Given the description of an element on the screen output the (x, y) to click on. 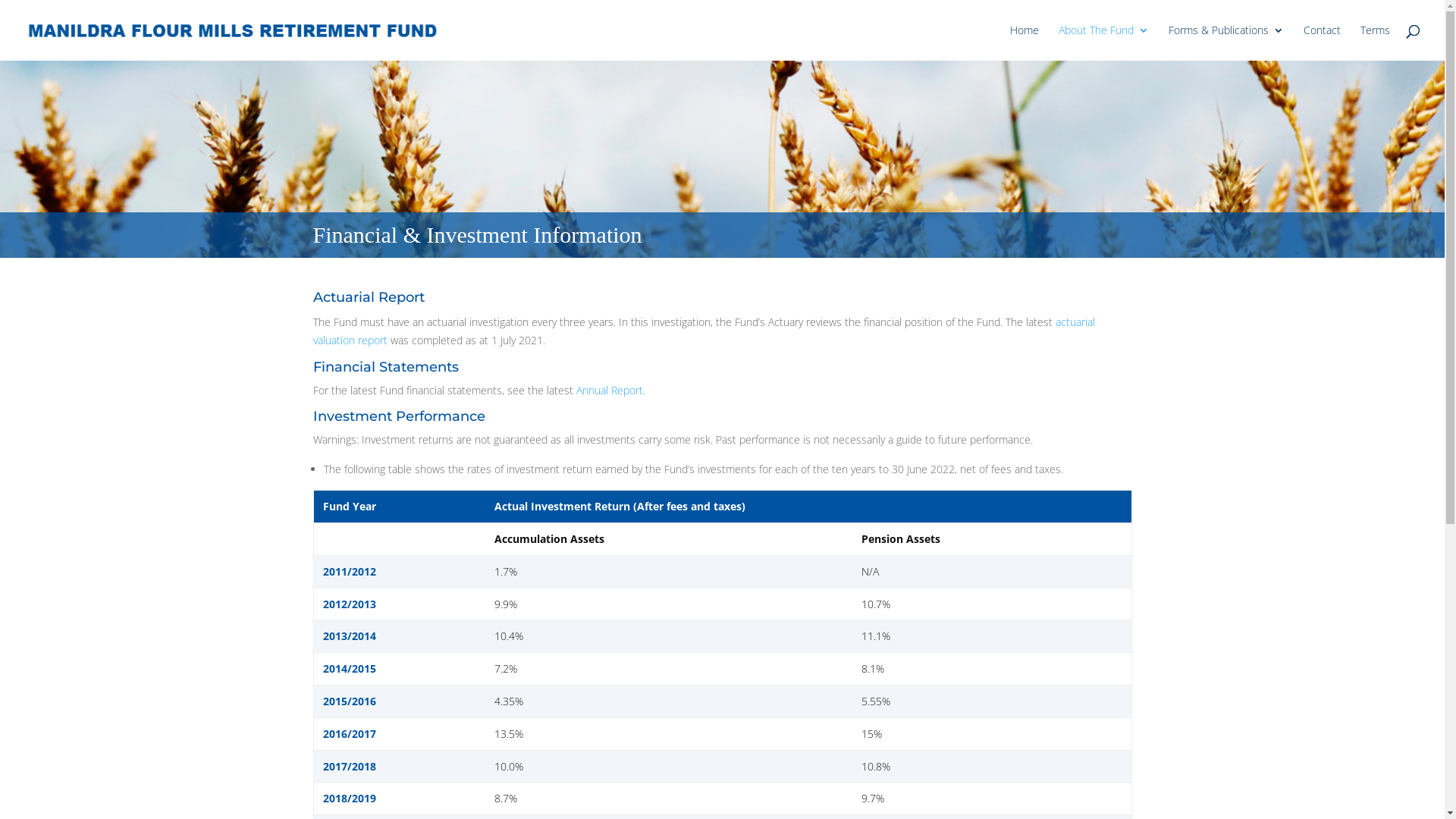
Home Element type: text (1024, 42)
Contact Element type: text (1321, 42)
Annual Report Element type: text (609, 389)
Forms & Publications Element type: text (1225, 42)
About The Fund Element type: text (1103, 42)
Terms Element type: text (1375, 42)
actuarial valuation report Element type: text (703, 330)
